Given the description of an element on the screen output the (x, y) to click on. 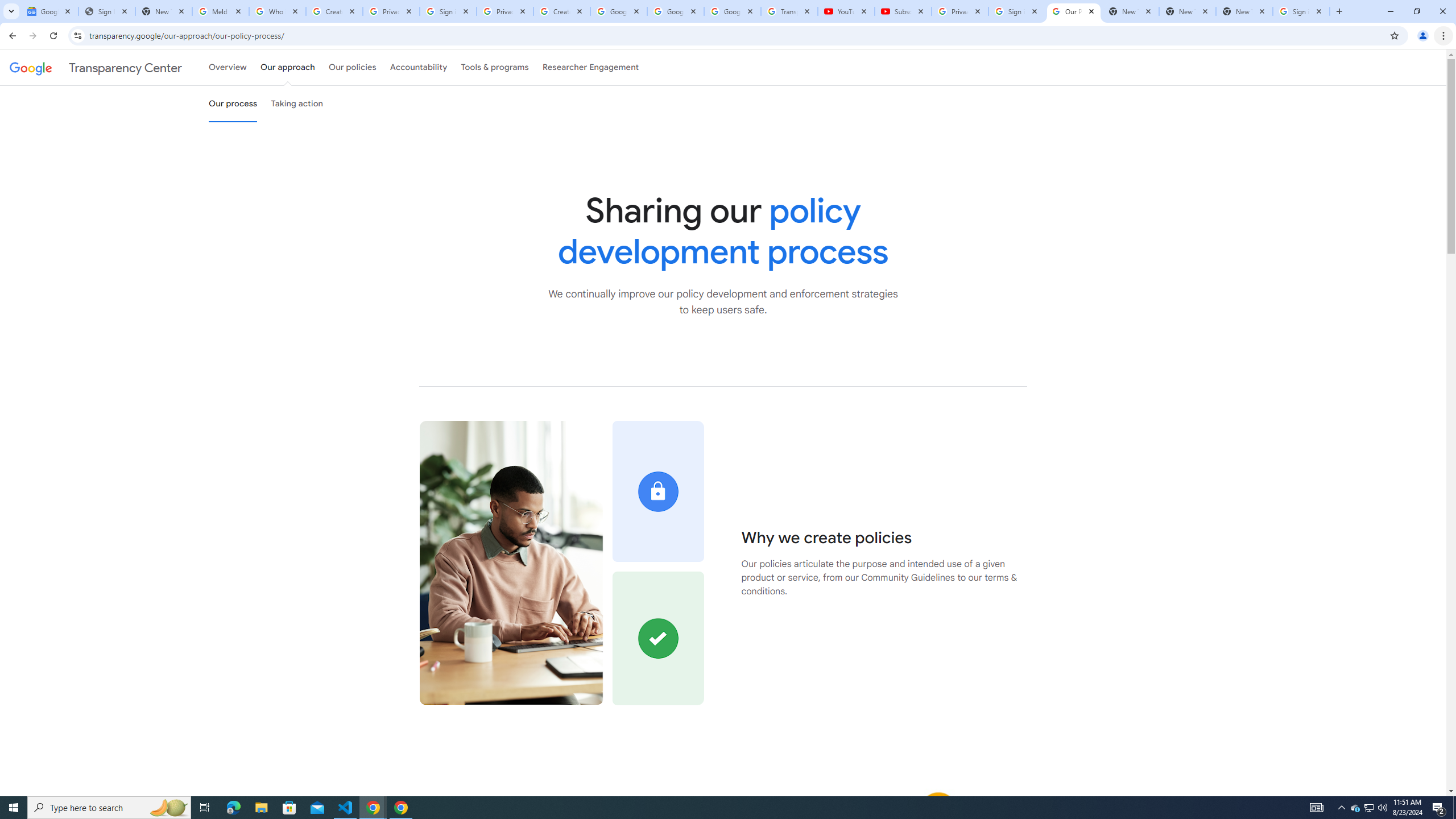
Sign in - Google Accounts (1015, 11)
Google News (49, 11)
Our approach (287, 67)
YouTube (845, 11)
